Given the description of an element on the screen output the (x, y) to click on. 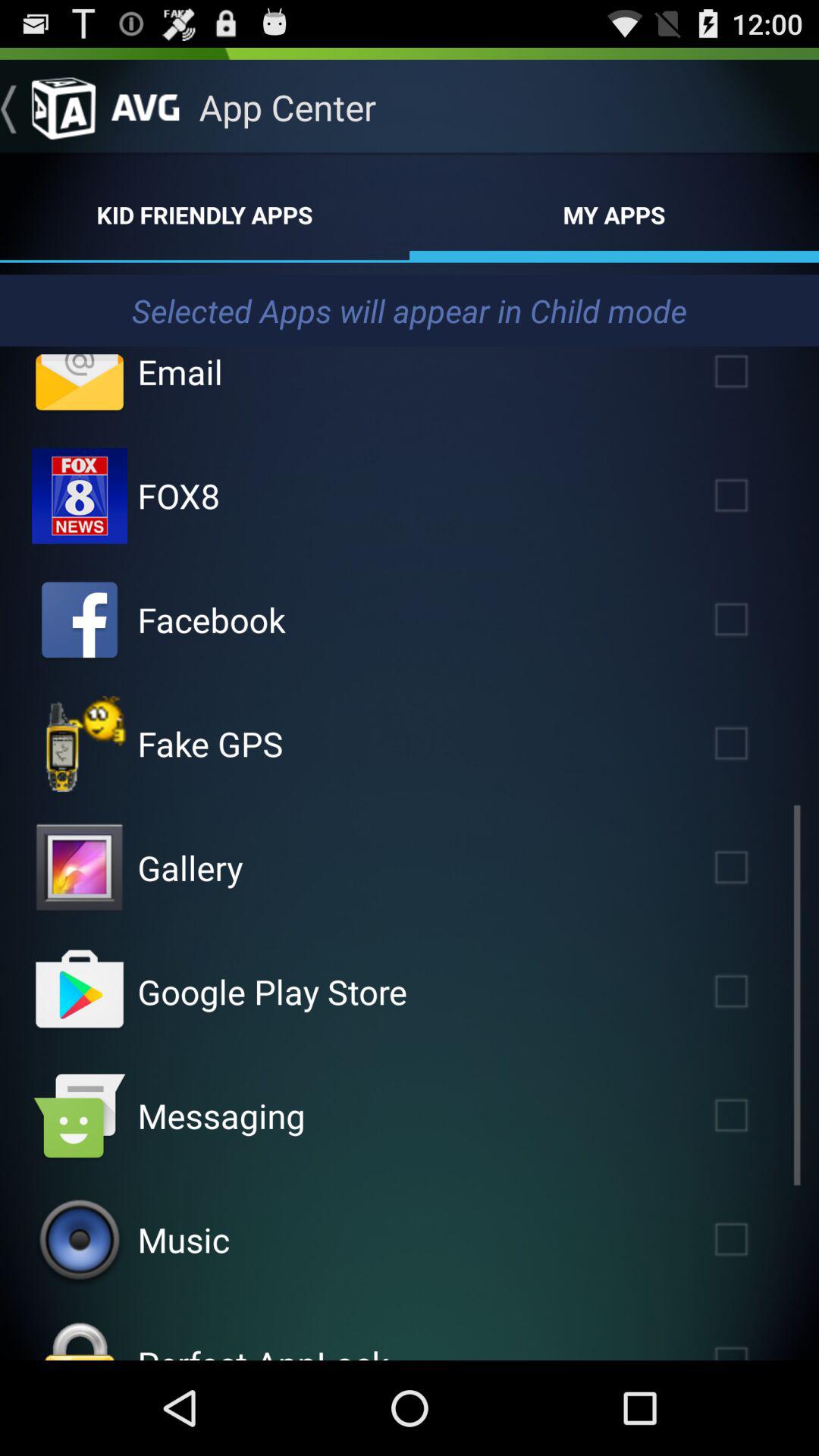
turn on item below selected apps will icon (179, 371)
